Given the description of an element on the screen output the (x, y) to click on. 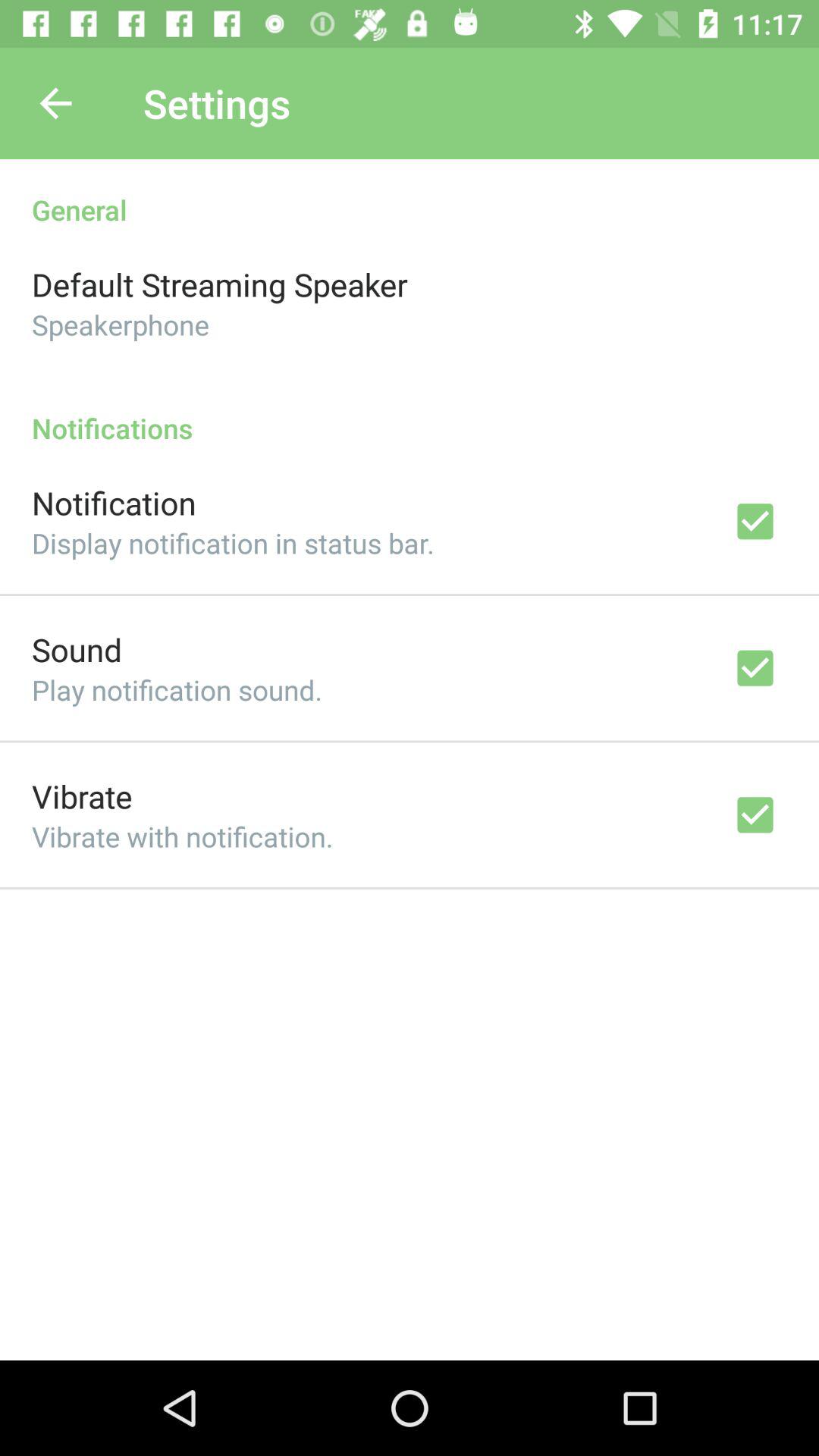
select notifications (409, 412)
